Given the description of an element on the screen output the (x, y) to click on. 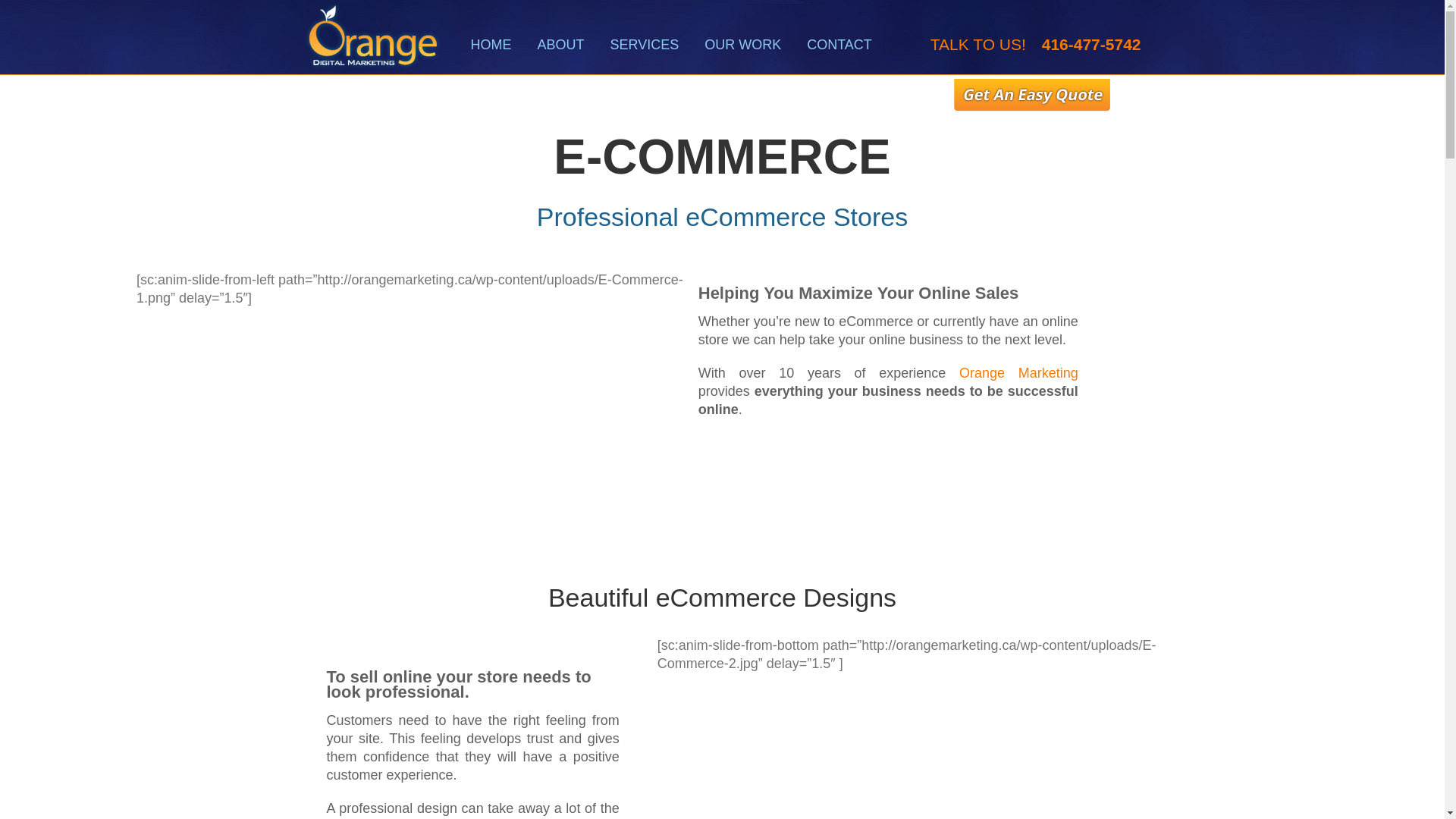
OUR WORK (742, 44)
ABOUT (560, 44)
SERVICES (643, 44)
CONTACT (839, 44)
HOME (490, 44)
